Given the description of an element on the screen output the (x, y) to click on. 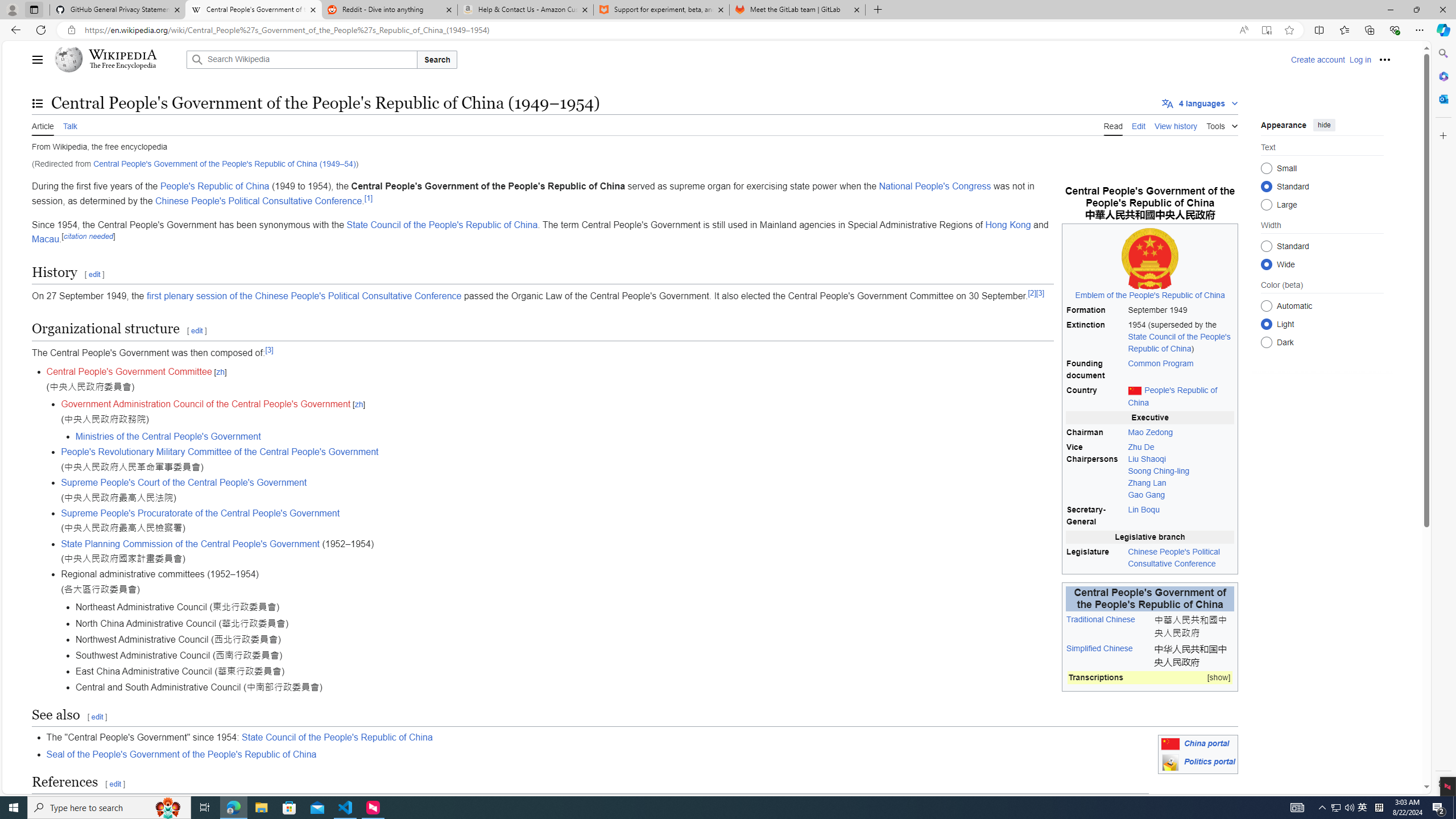
Large (1266, 204)
Tools (1222, 124)
Extinction (1095, 336)
Light (1266, 323)
Emblem of the People's Republic of China (1149, 294)
Central People's Government Committee (129, 371)
Hong Kong (1007, 224)
[2] (1031, 292)
Common Program (1160, 363)
People's Republic of China (214, 186)
